Given the description of an element on the screen output the (x, y) to click on. 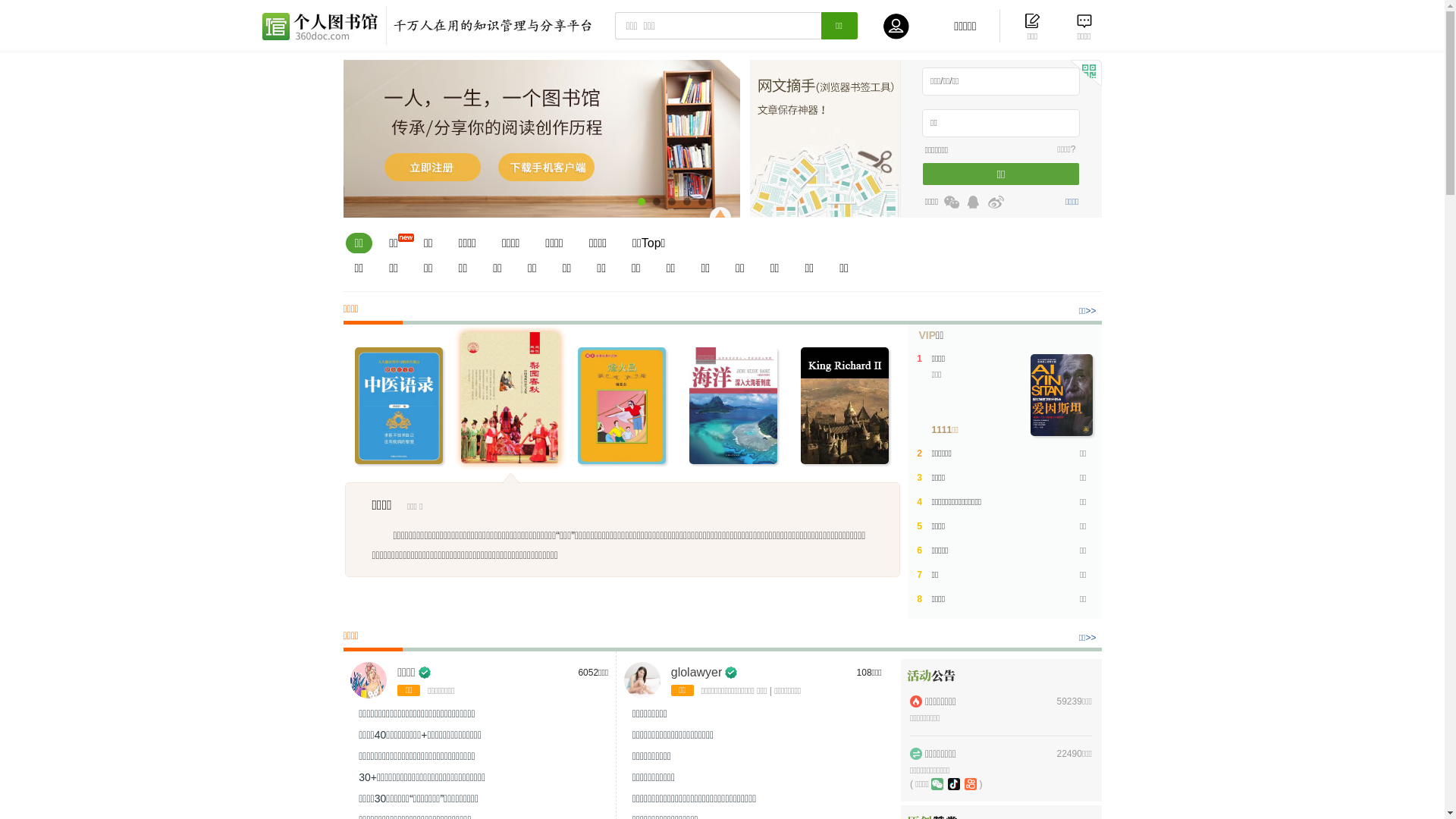
glolawyer Element type: text (696, 671)
